Given the description of an element on the screen output the (x, y) to click on. 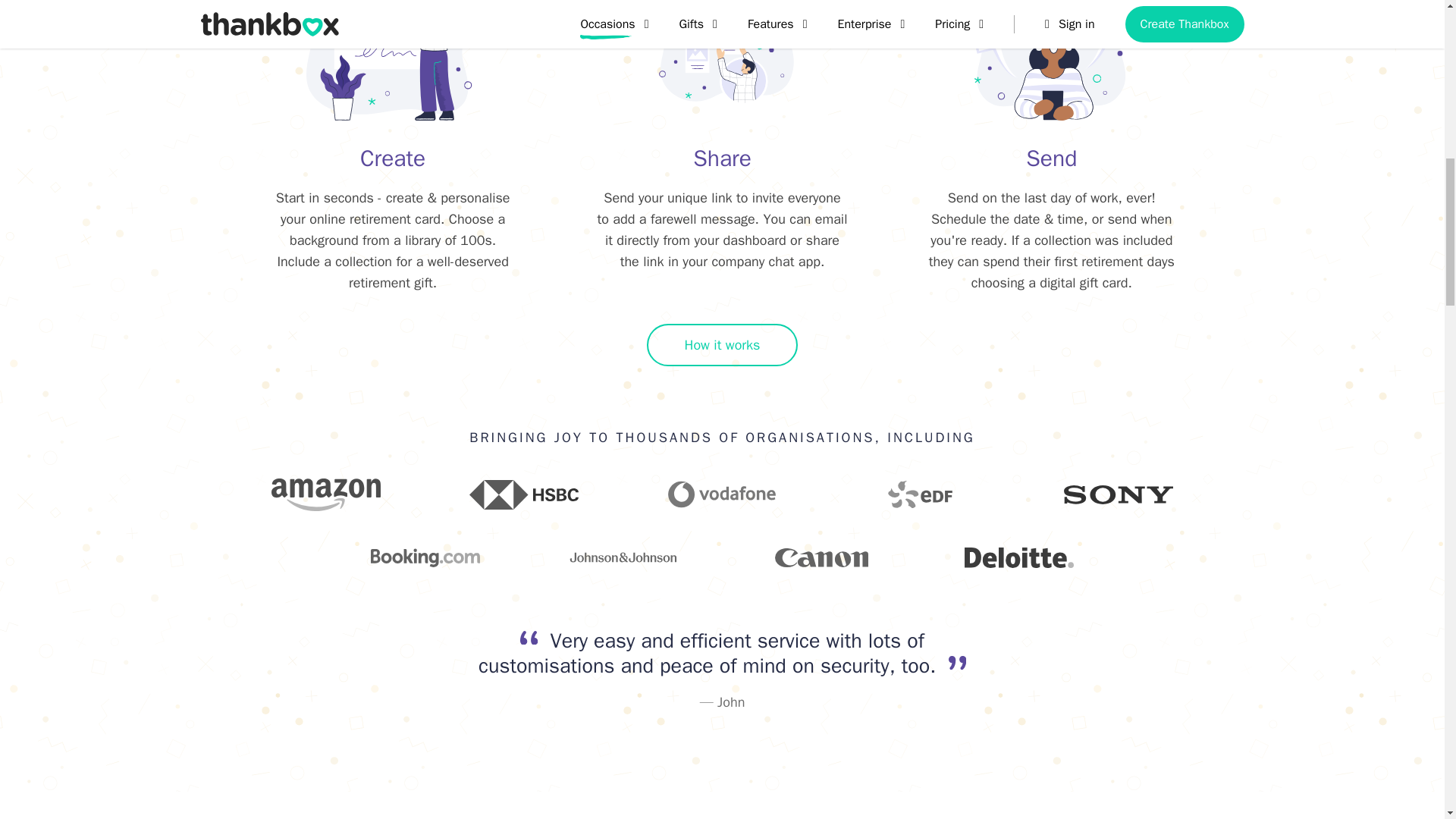
Customer reviews powered by Trustpilot (565, 746)
